Given the description of an element on the screen output the (x, y) to click on. 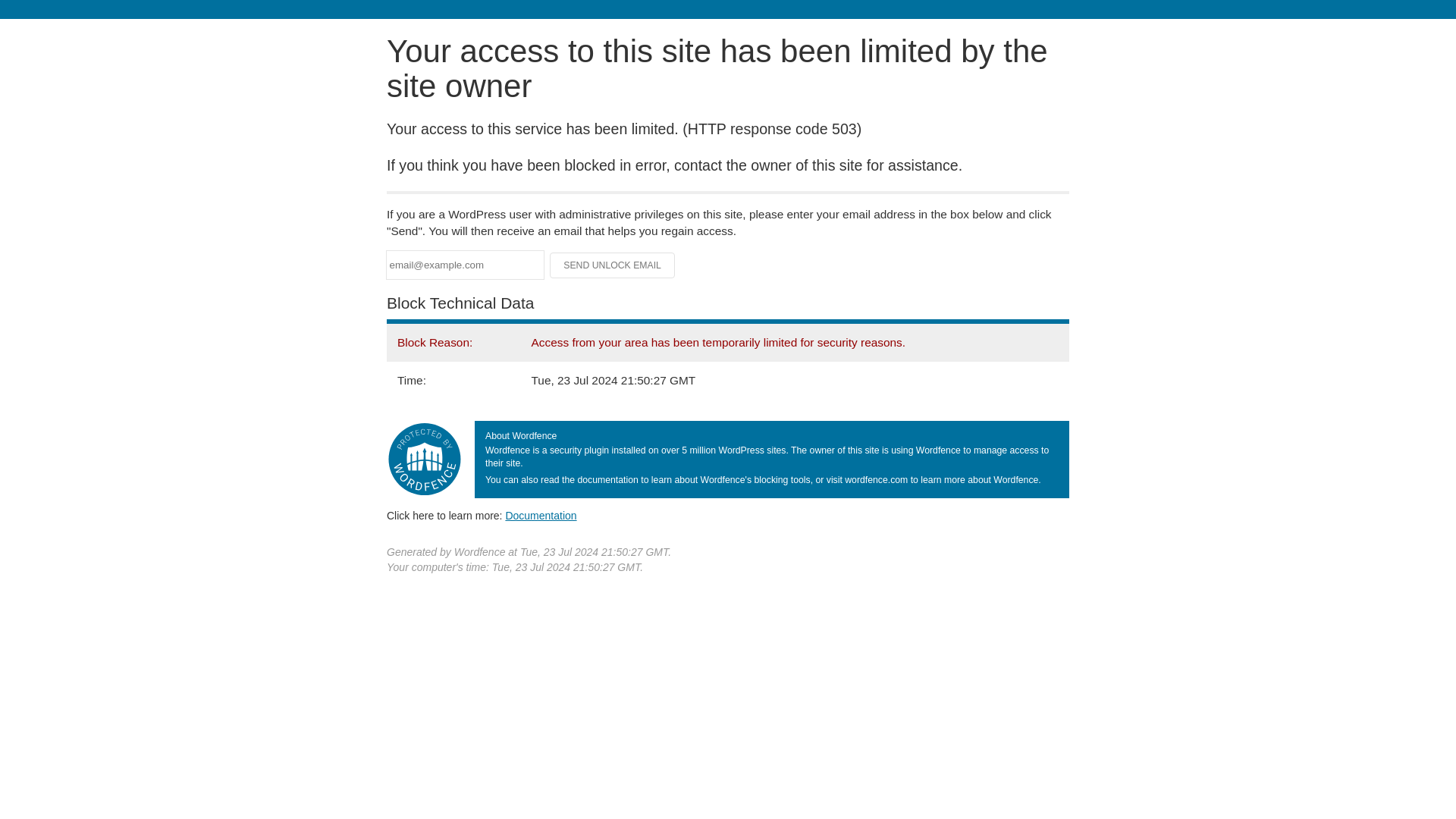
Send Unlock Email (612, 265)
Send Unlock Email (612, 265)
Documentation (540, 515)
